Given the description of an element on the screen output the (x, y) to click on. 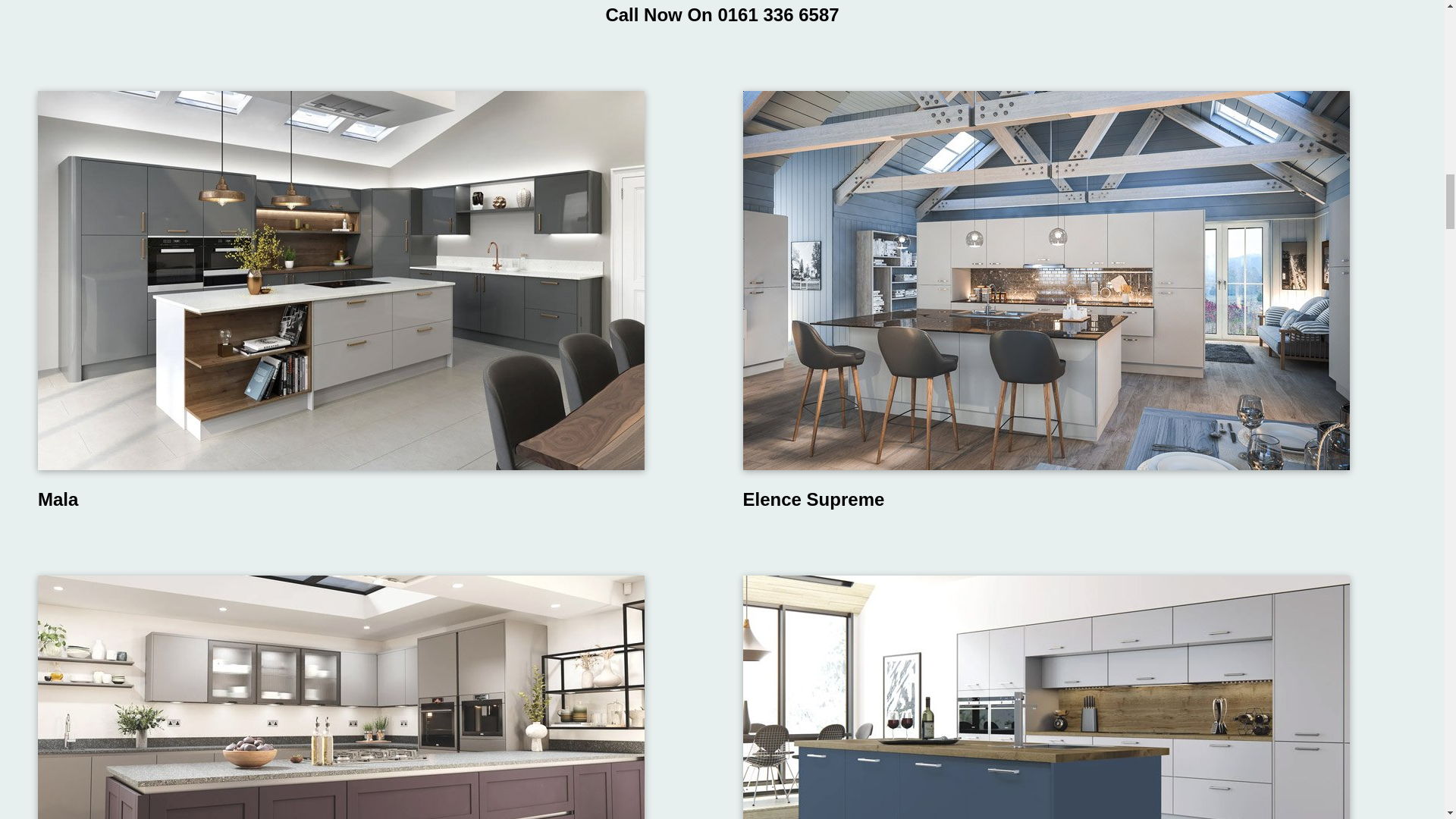
Call Now On 0161 336 6587 (721, 14)
